Given the description of an element on the screen output the (x, y) to click on. 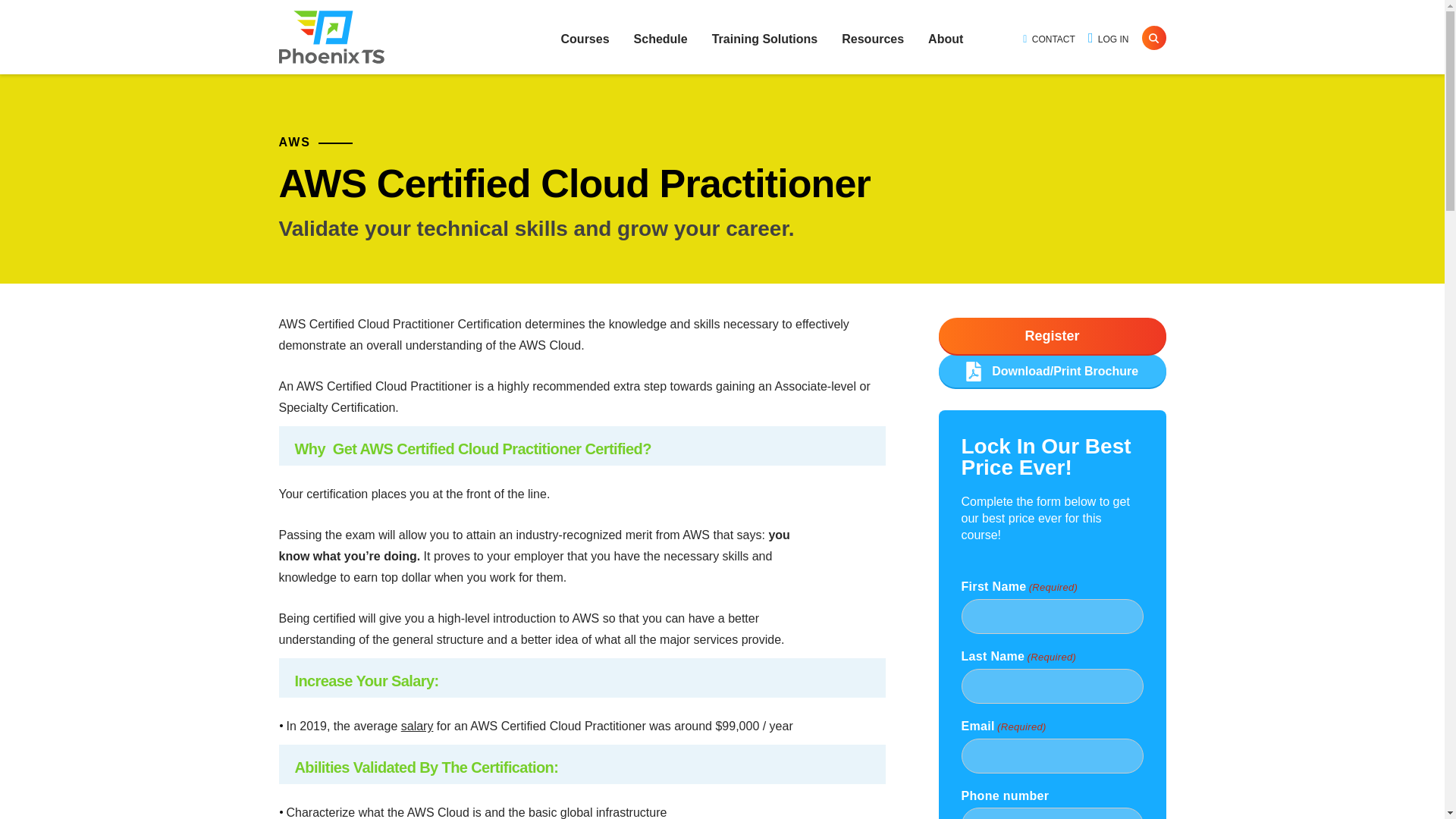
Courses (585, 38)
Phoenix TS (331, 36)
